Given the description of an element on the screen output the (x, y) to click on. 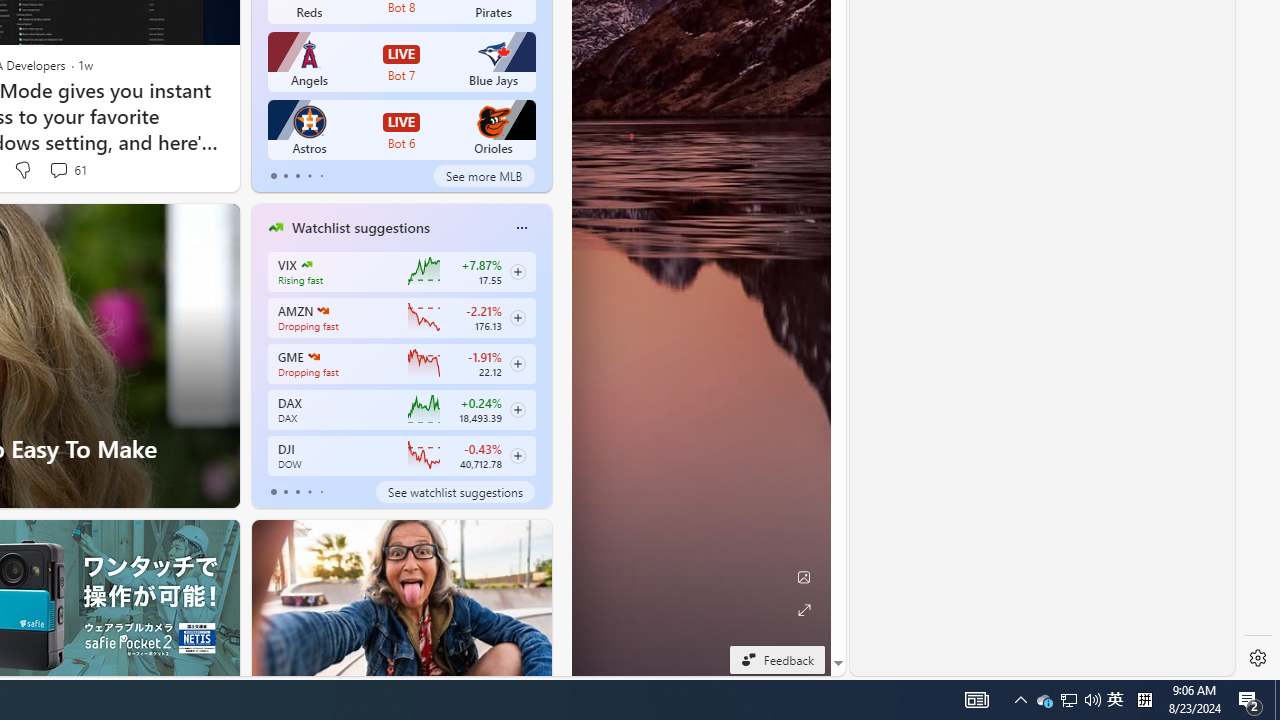
GAMESTOP CORP. (313, 356)
Angels LIVE Bot 7 Blue Jays (401, 61)
tab-3 (309, 491)
Expand background (803, 610)
Dislike (21, 170)
Astros LIVE Bot 6 Orioles (401, 129)
Watchlist suggestions (360, 227)
Class: follow-button  m (517, 455)
tab-0 (273, 491)
Edit Background (803, 577)
AMAZON.COM, INC. (322, 310)
